Given the description of an element on the screen output the (x, y) to click on. 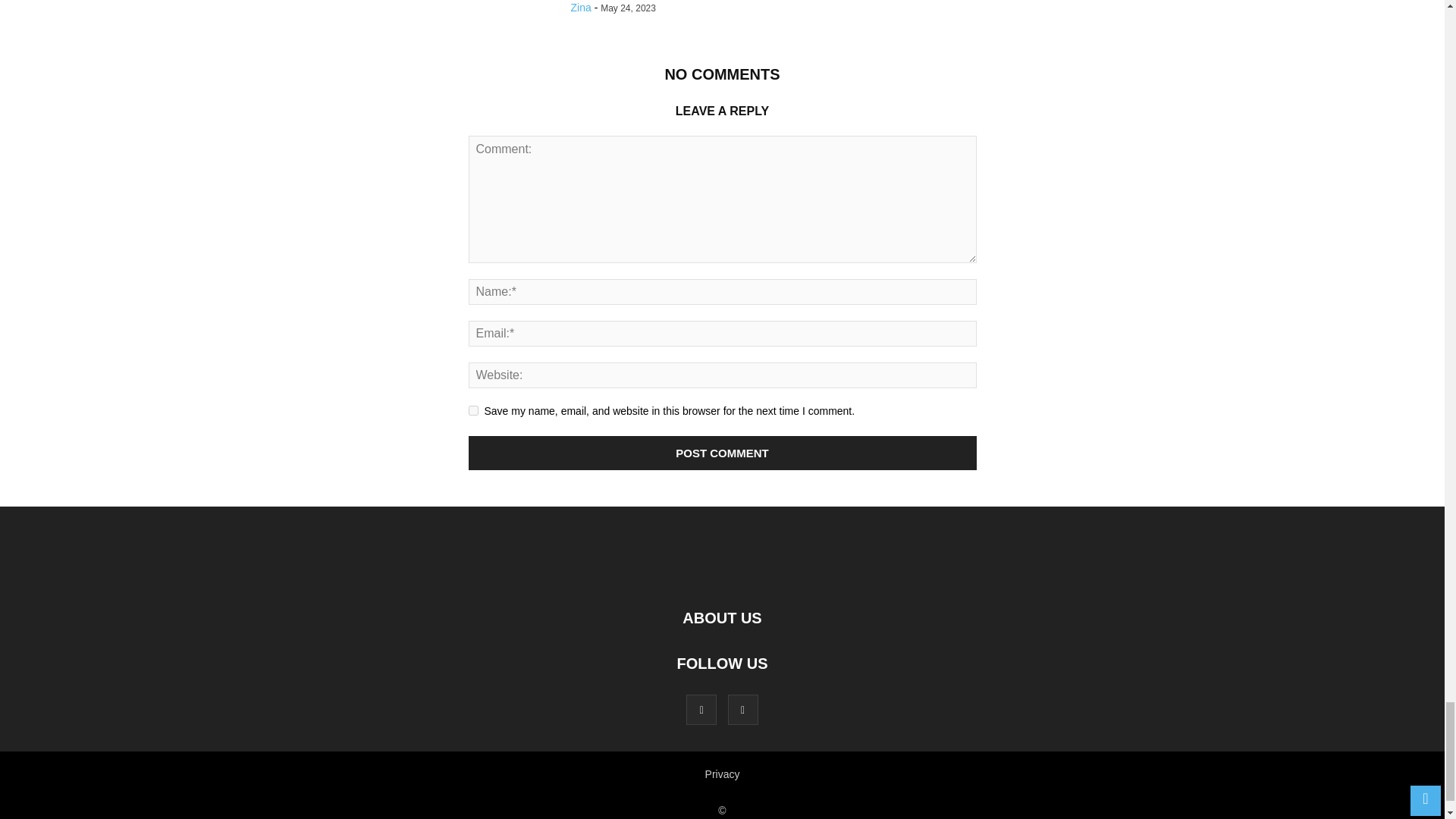
Post Comment (722, 452)
Zina (580, 7)
yes (473, 410)
Post Comment (722, 452)
Privacy (721, 774)
